Given the description of an element on the screen output the (x, y) to click on. 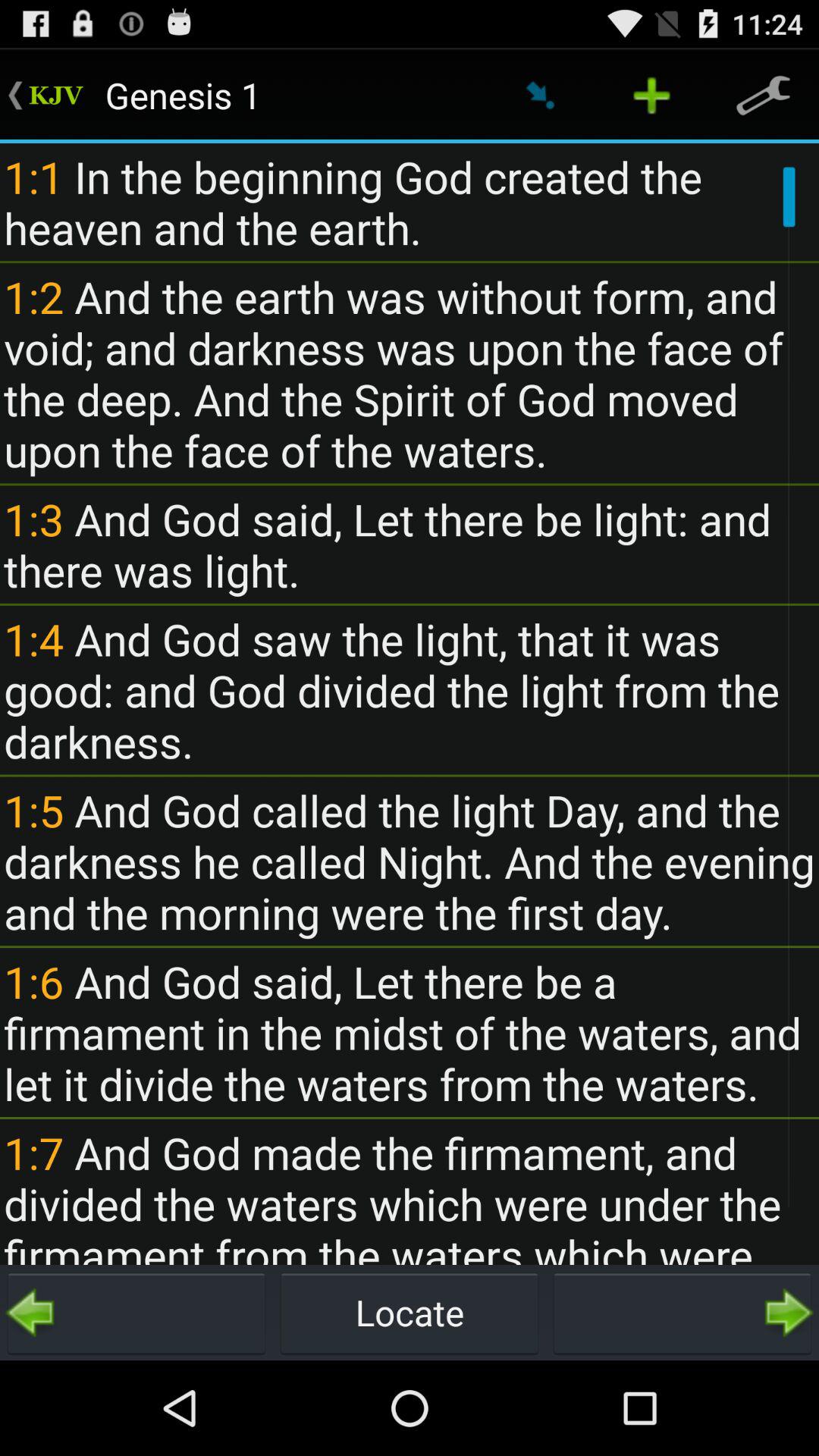
tap the icon to the right of locate icon (682, 1312)
